Given the description of an element on the screen output the (x, y) to click on. 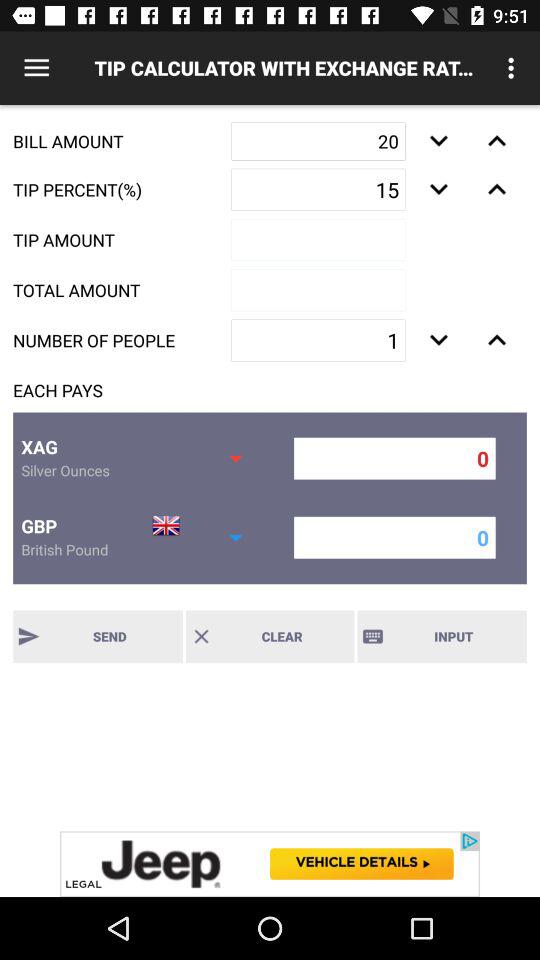
increase (496, 141)
